Given the description of an element on the screen output the (x, y) to click on. 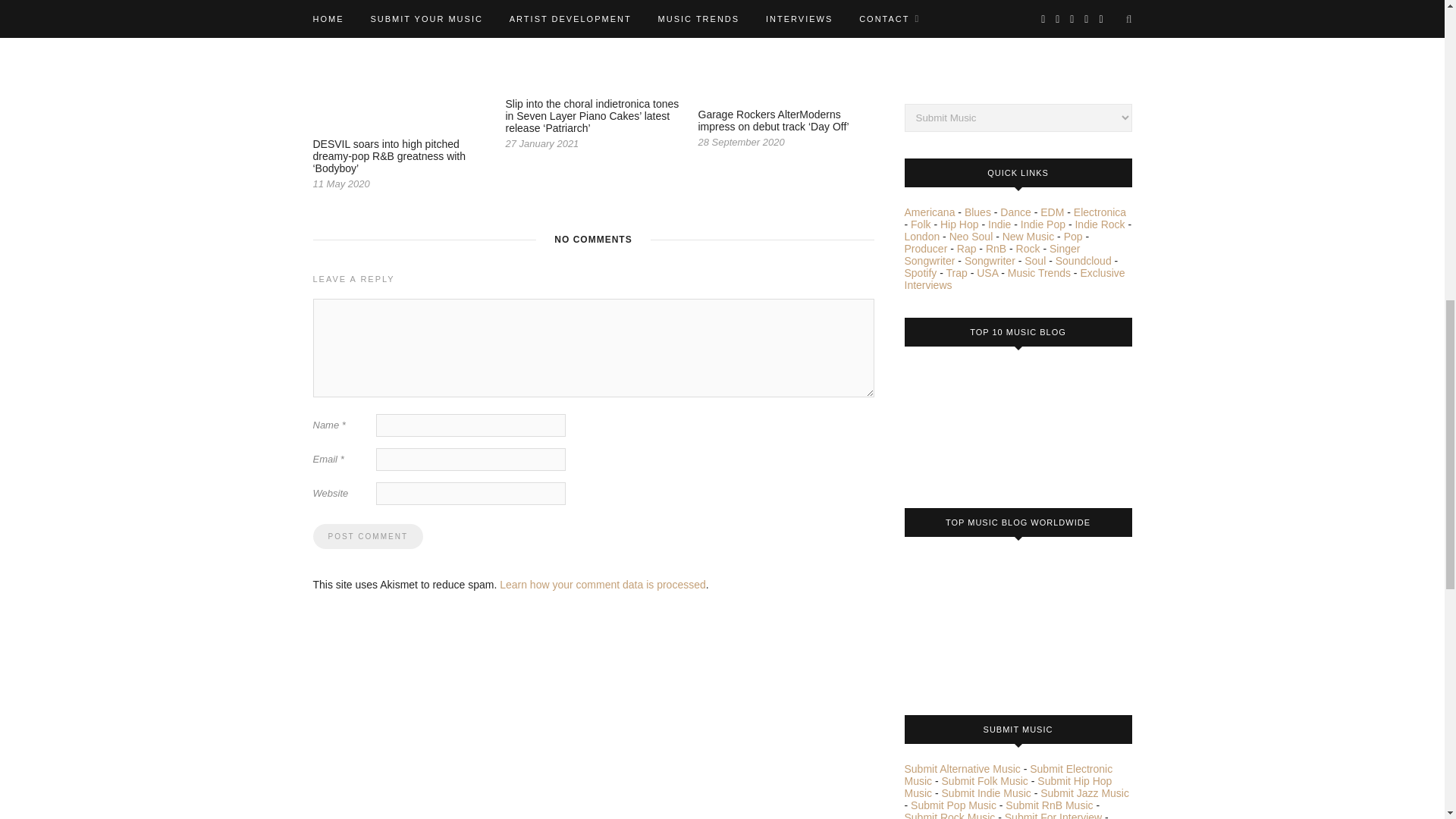
Dance (1015, 212)
Post Comment (367, 536)
Post Comment (367, 536)
Learn how your comment data is processed (602, 584)
Blues (977, 212)
Americana (929, 212)
Top 10 Music Blog (960, 422)
